Given the description of an element on the screen output the (x, y) to click on. 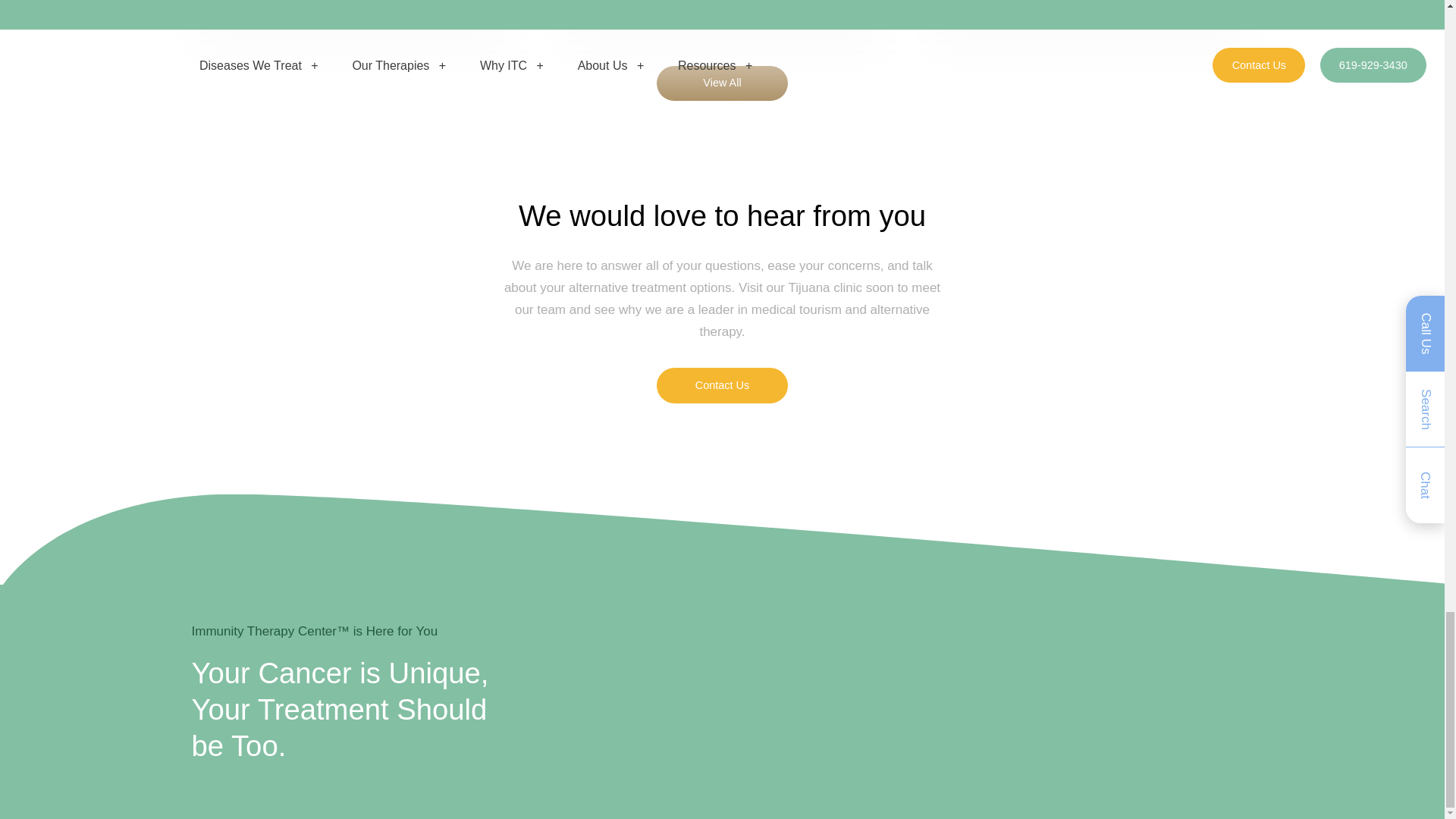
View All (721, 83)
Contact Us (721, 384)
